Given the description of an element on the screen output the (x, y) to click on. 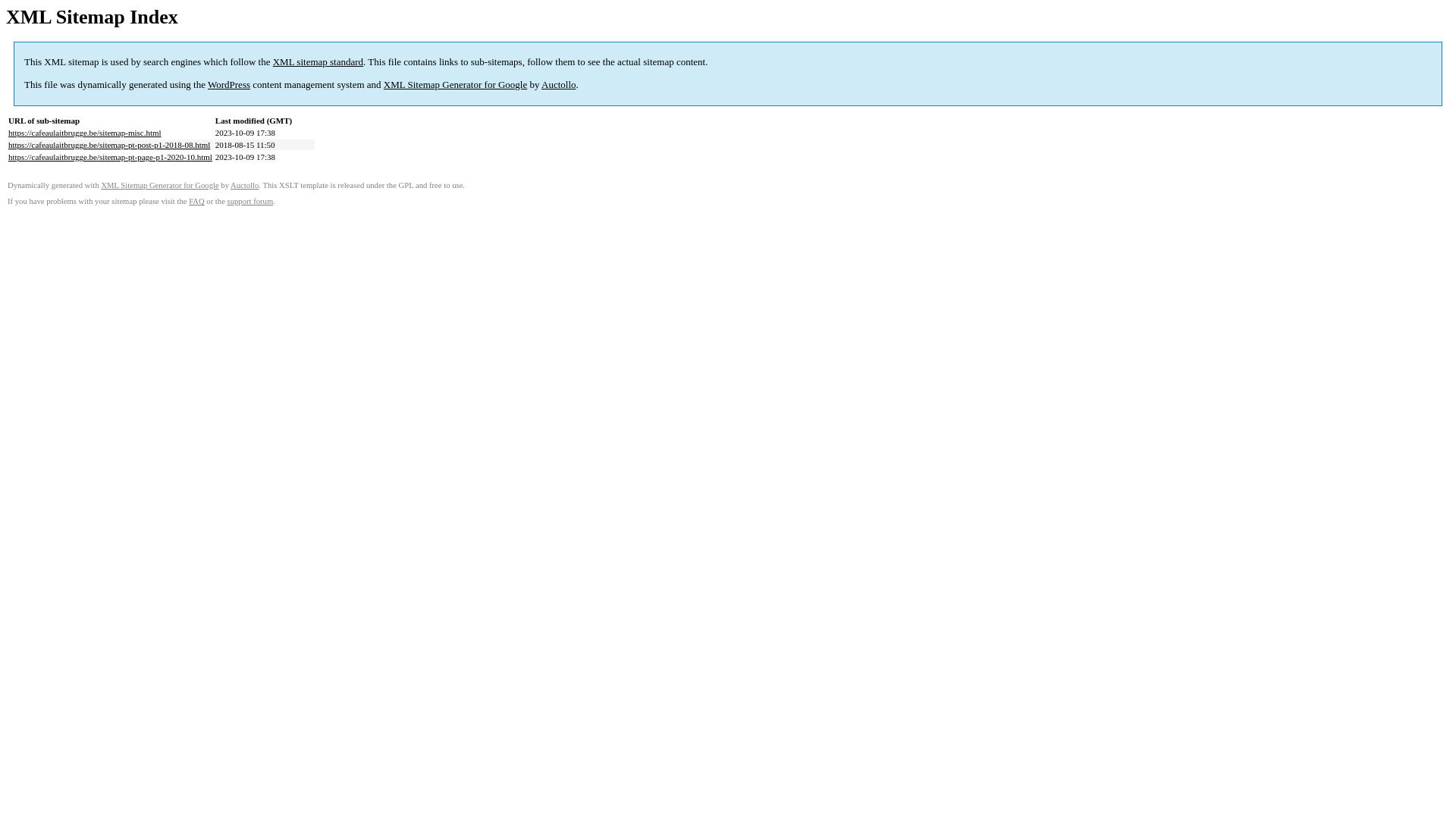
https://cafeaulaitbrugge.be/sitemap-misc.html Element type: text (84, 132)
XML Sitemap Generator for Google Element type: text (455, 84)
Auctollo Element type: text (244, 185)
FAQ Element type: text (196, 201)
https://cafeaulaitbrugge.be/sitemap-pt-page-p1-2020-10.html Element type: text (110, 156)
support forum Element type: text (250, 201)
WordPress Element type: text (228, 84)
XML Sitemap Generator for Google Element type: text (159, 185)
https://cafeaulaitbrugge.be/sitemap-pt-post-p1-2018-08.html Element type: text (109, 144)
Auctollo Element type: text (558, 84)
XML sitemap standard Element type: text (318, 61)
